Given the description of an element on the screen output the (x, y) to click on. 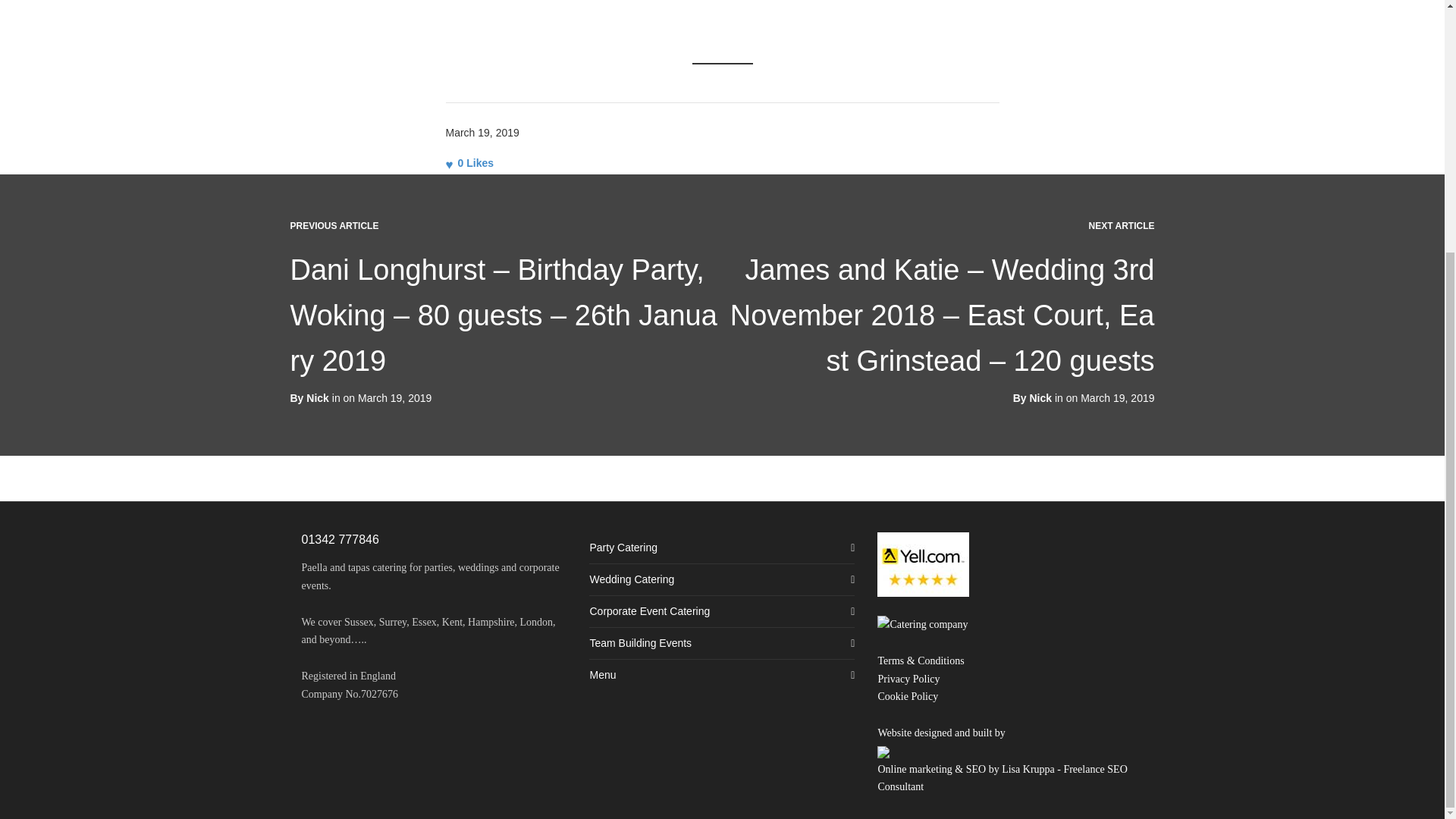
Corporate Event Catering (721, 611)
Team Building Events (721, 643)
Wedding Catering (721, 579)
Party Catering (721, 547)
